Given the description of an element on the screen output the (x, y) to click on. 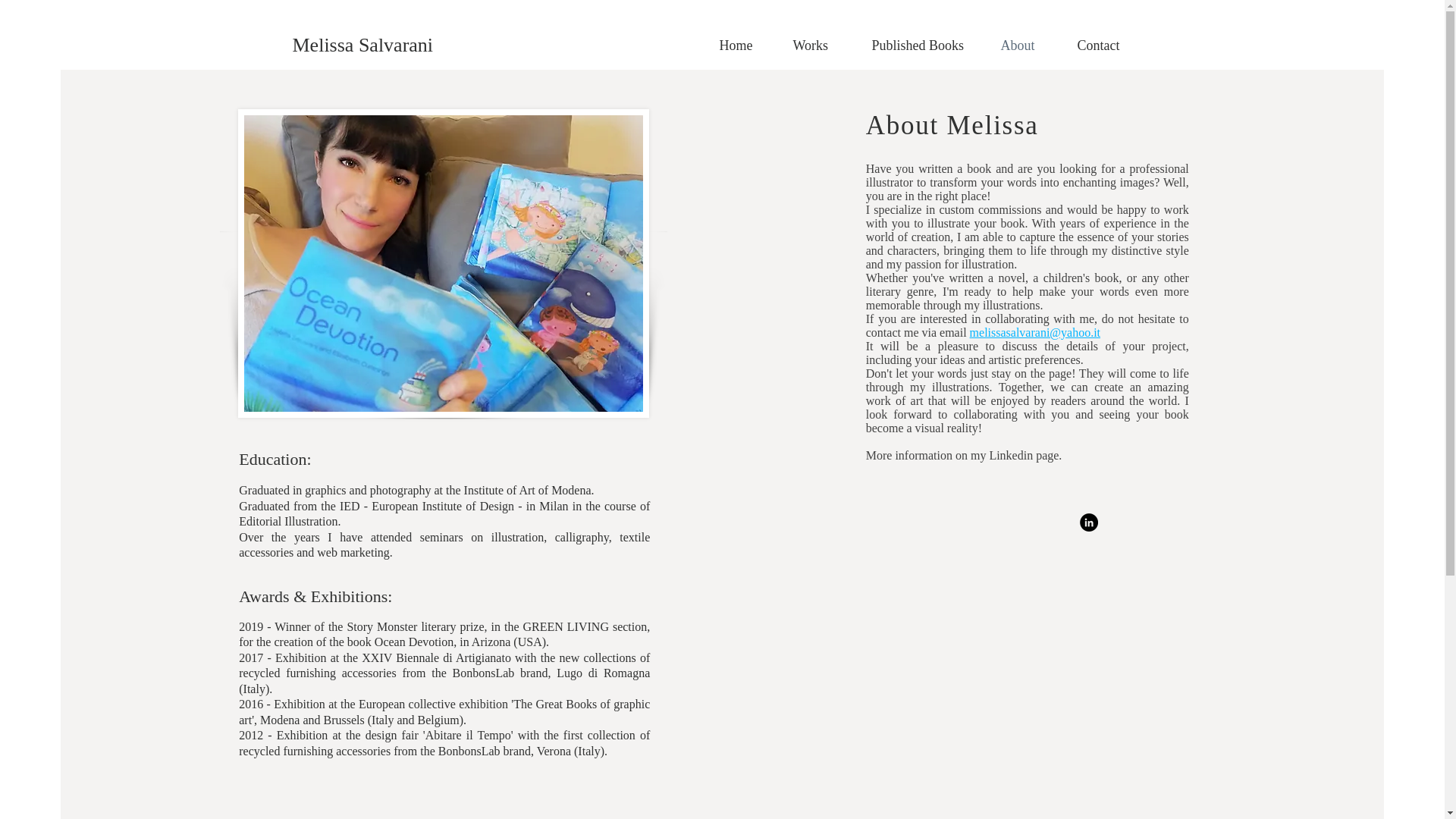
Works (820, 45)
Home (744, 45)
Published Books (924, 45)
About (1026, 45)
Contact (1107, 45)
